Given the description of an element on the screen output the (x, y) to click on. 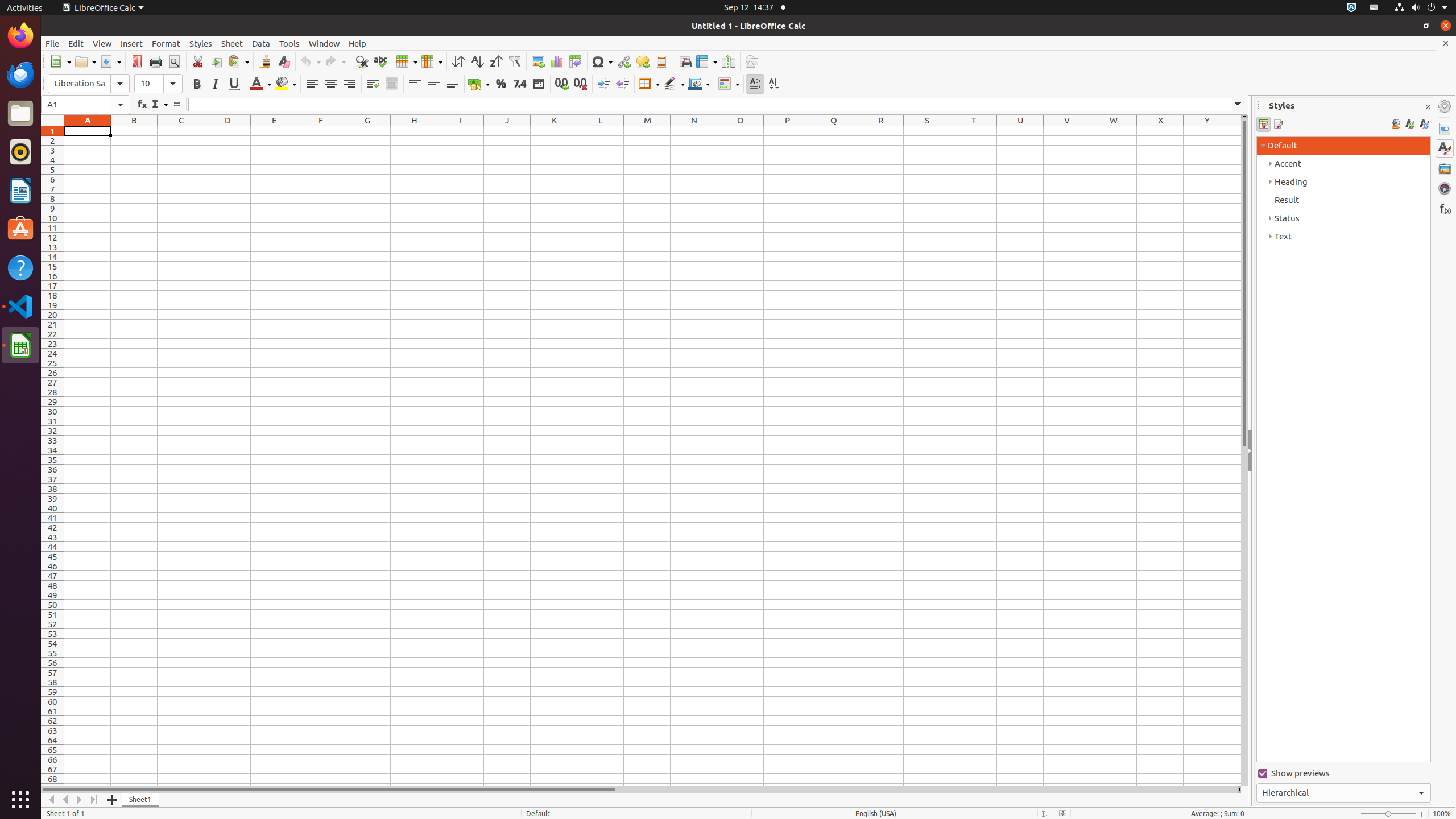
P1 Element type: table-cell (786, 130)
Format Element type: menu (165, 43)
Sheet1 Element type: page-tab (140, 799)
Hyperlink Element type: toggle-button (623, 61)
A1 Element type: table-cell (87, 130)
